Given the description of an element on the screen output the (x, y) to click on. 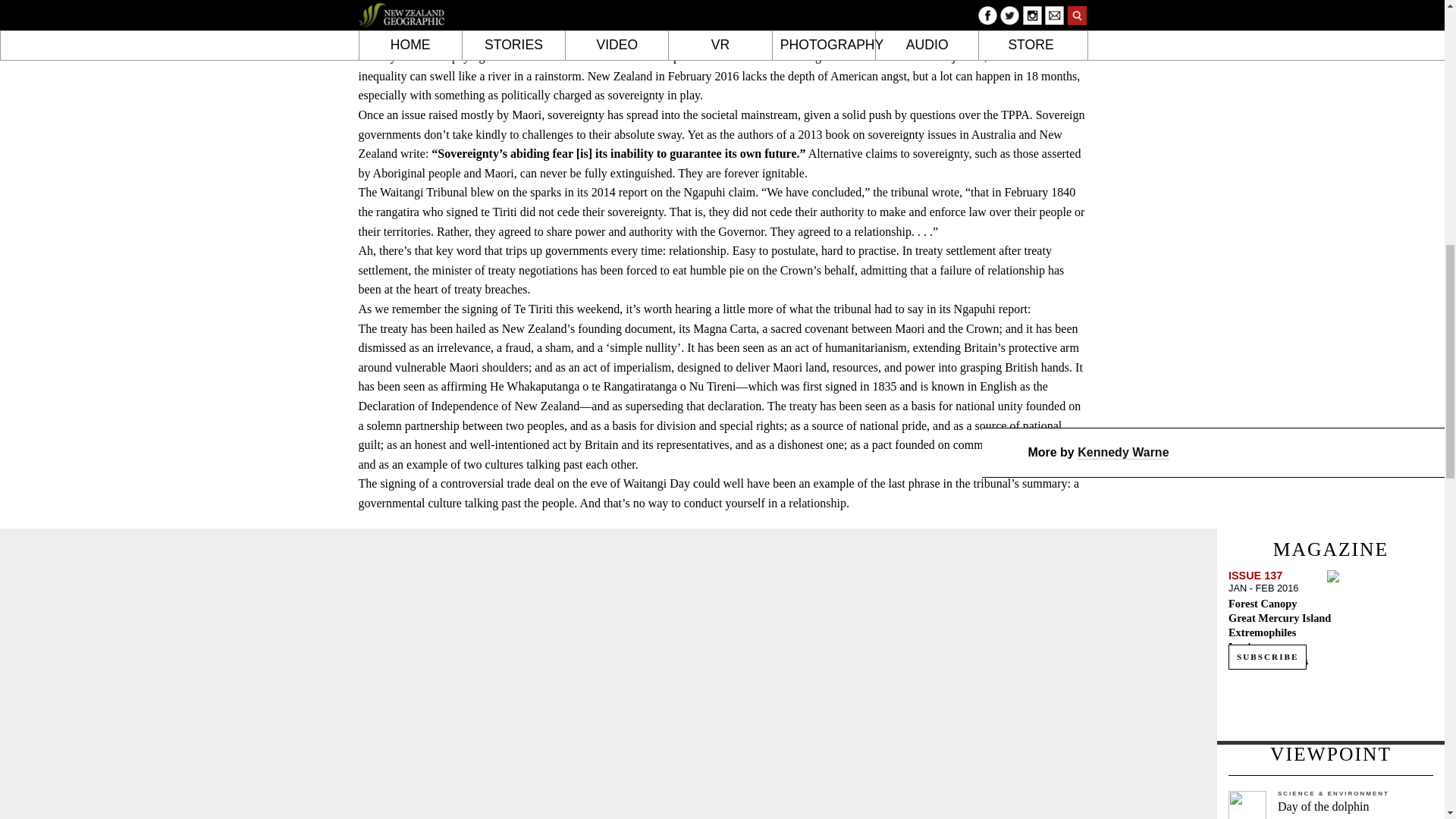
report (634, 192)
Posts by Kennedy Warne (1123, 452)
Kennedy Warne (1123, 452)
SUBSCRIBE (1267, 656)
book (838, 133)
ISSUE 137 (1255, 575)
